Given the description of an element on the screen output the (x, y) to click on. 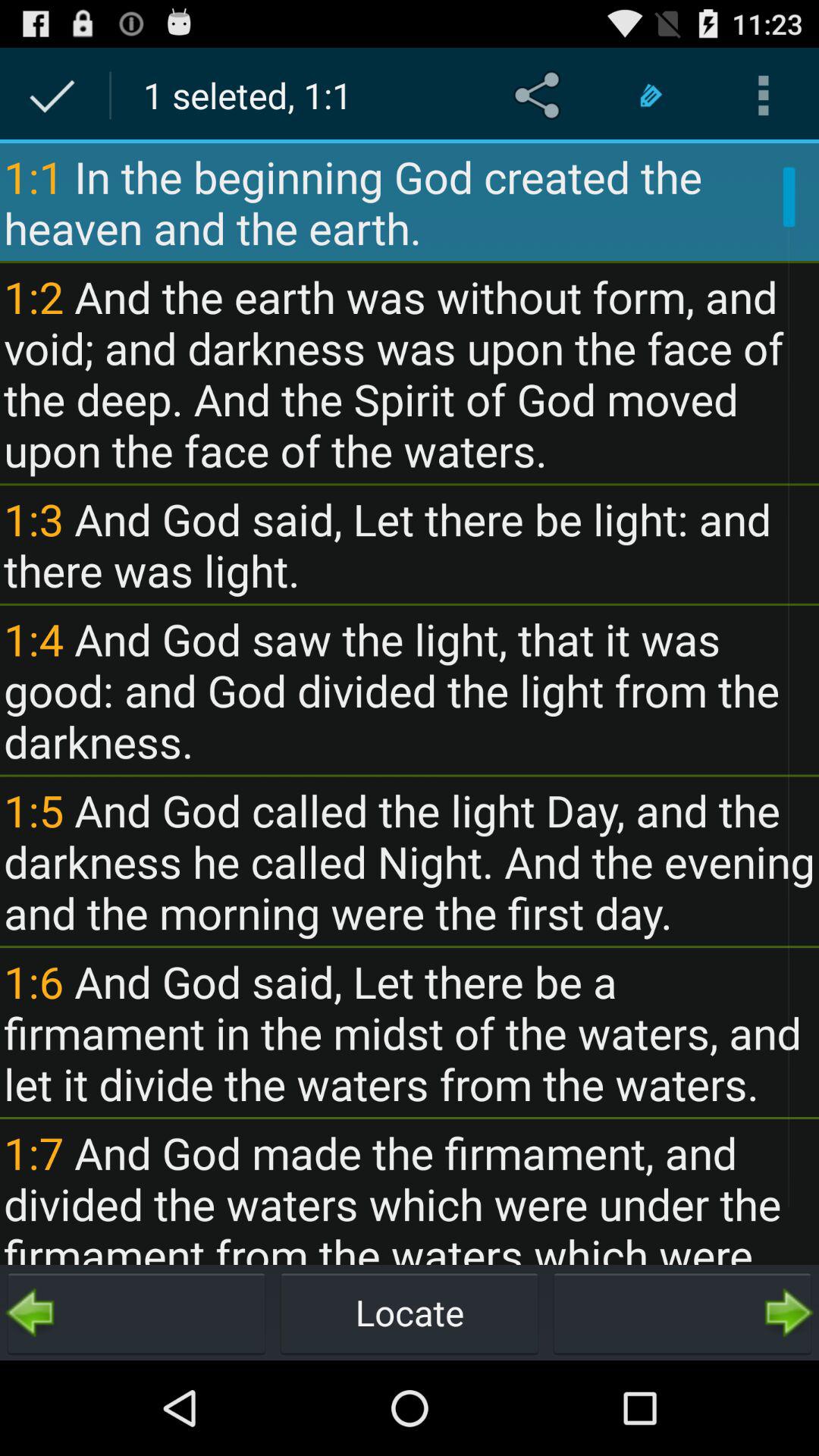
turn off icon at the bottom right corner (682, 1312)
